Given the description of an element on the screen output the (x, y) to click on. 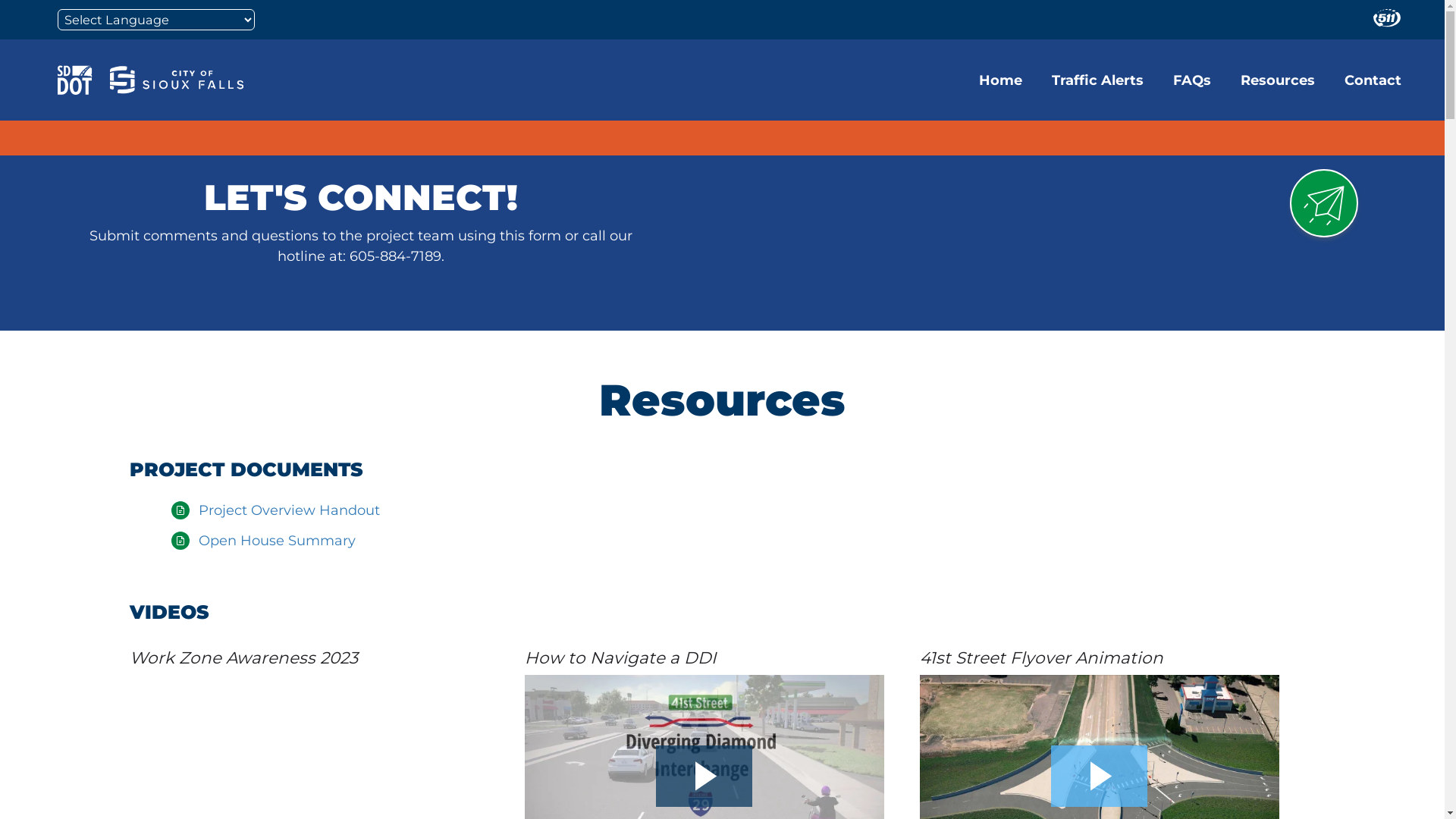
Contact Element type: text (1372, 80)
Traffic Alerts Element type: text (1097, 80)
Home Element type: text (1000, 80)
Resources Element type: text (1277, 80)
Open House Summary Element type: text (276, 540)
605-884-7189 Element type: text (395, 255)
Project Overview Handout Element type: text (288, 510)
FAQs Element type: text (1192, 80)
